Given the description of an element on the screen output the (x, y) to click on. 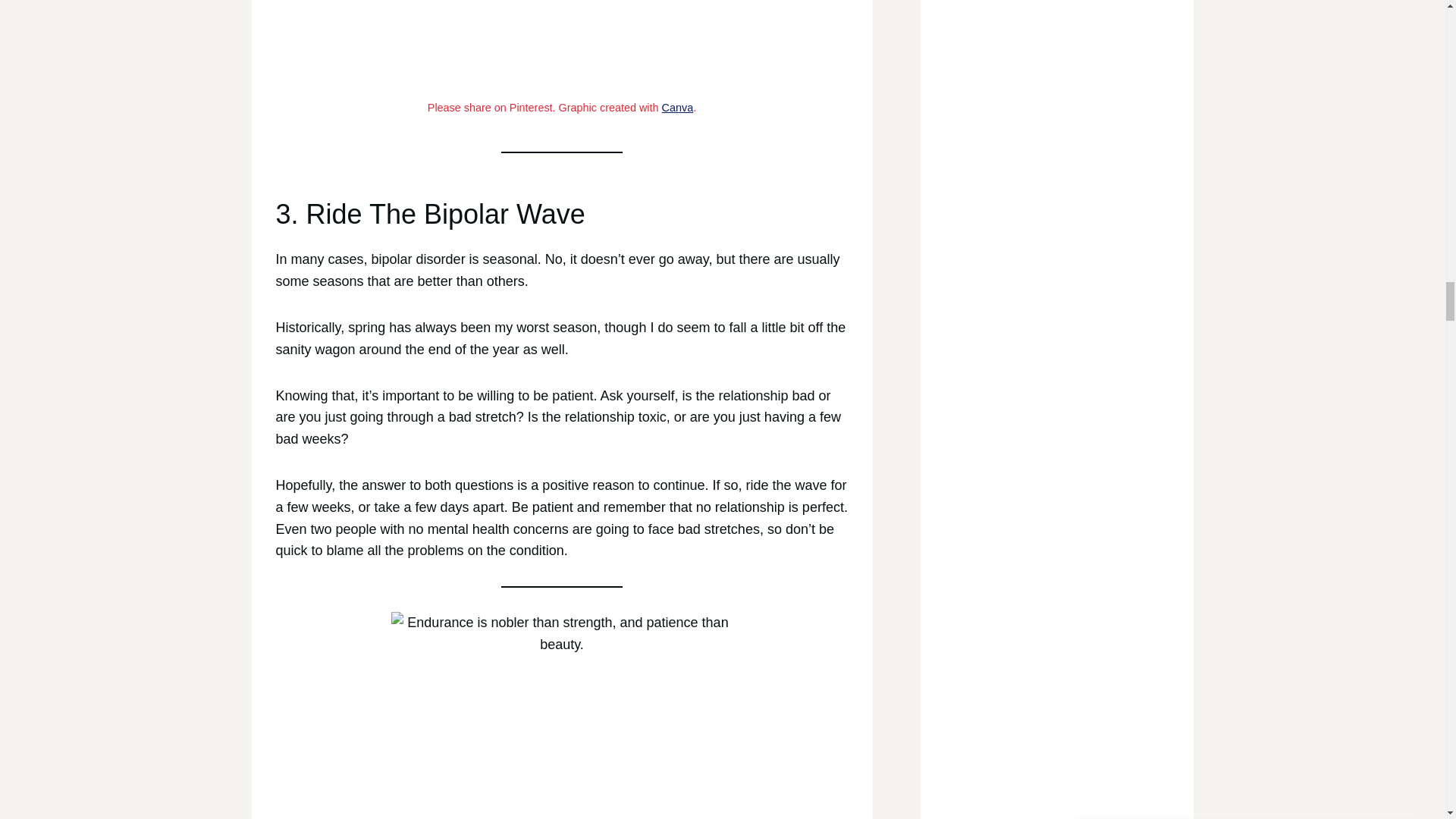
Canva (678, 107)
